Given the description of an element on the screen output the (x, y) to click on. 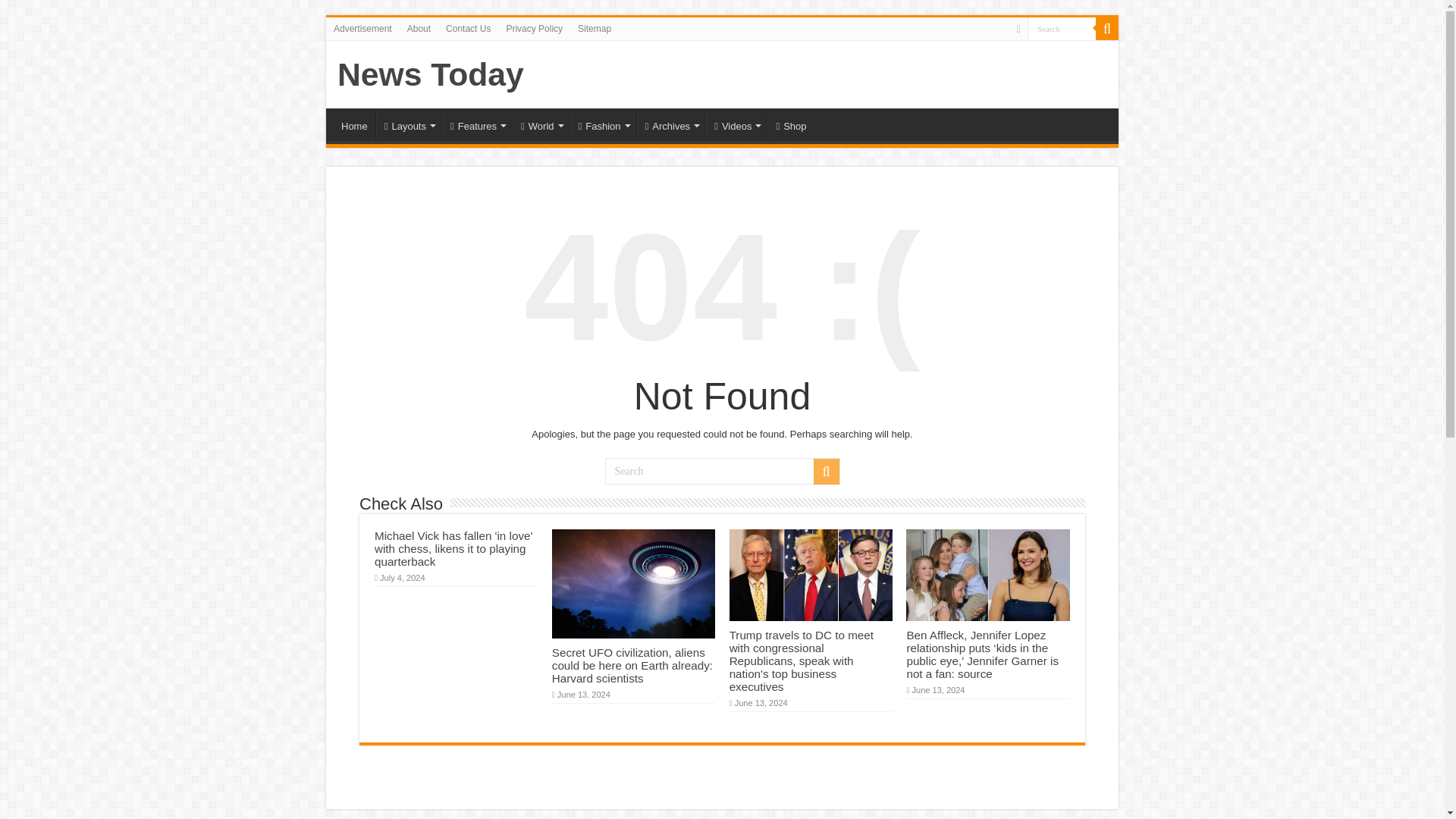
Search (1061, 28)
Search (1061, 28)
Search (1061, 28)
Search (722, 470)
